Given the description of an element on the screen output the (x, y) to click on. 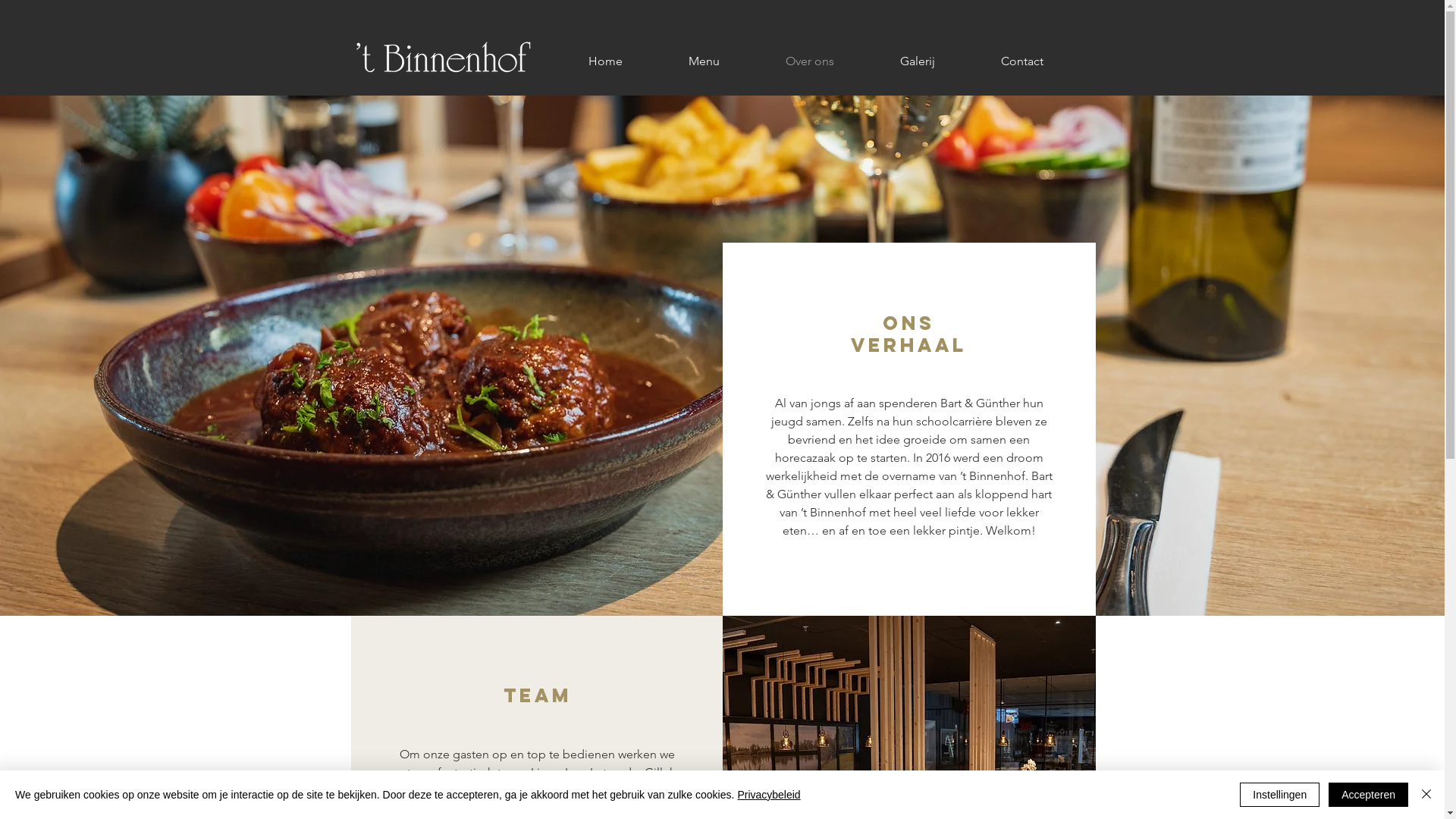
Menu Element type: text (703, 61)
Over ons Element type: text (809, 61)
Accepteren Element type: text (1368, 794)
Home Element type: text (605, 61)
Privacybeleid Element type: text (768, 794)
Instellingen Element type: text (1279, 794)
Galerij Element type: text (917, 61)
Contact Element type: text (1021, 61)
